Given the description of an element on the screen output the (x, y) to click on. 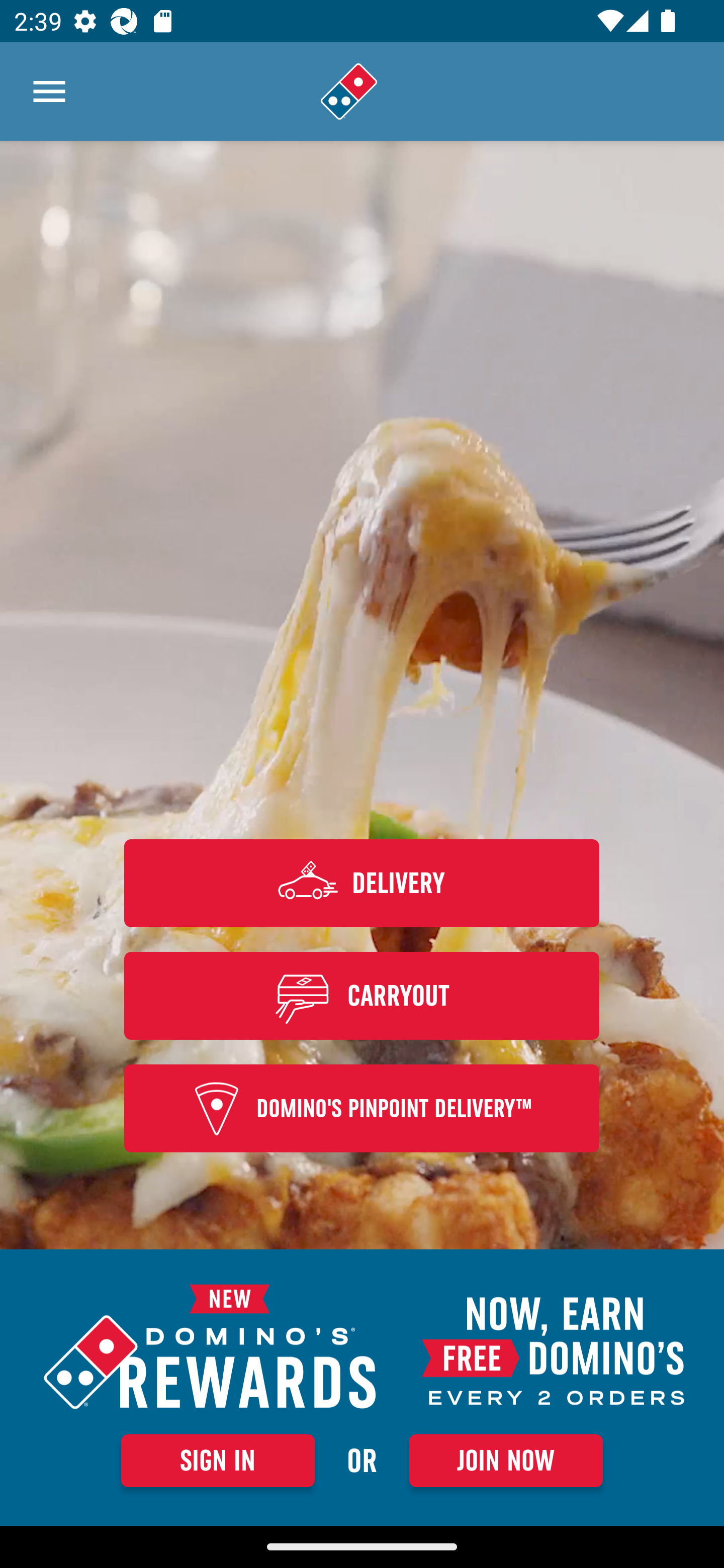
Expand Menu (49, 91)
DELIVERY (361, 882)
CARRYOUT (361, 995)
DOMINO'S PINPOINT DELIVERY™ (361, 1108)
SIGN IN (217, 1460)
JOIN NOW (506, 1460)
